Given the description of an element on the screen output the (x, y) to click on. 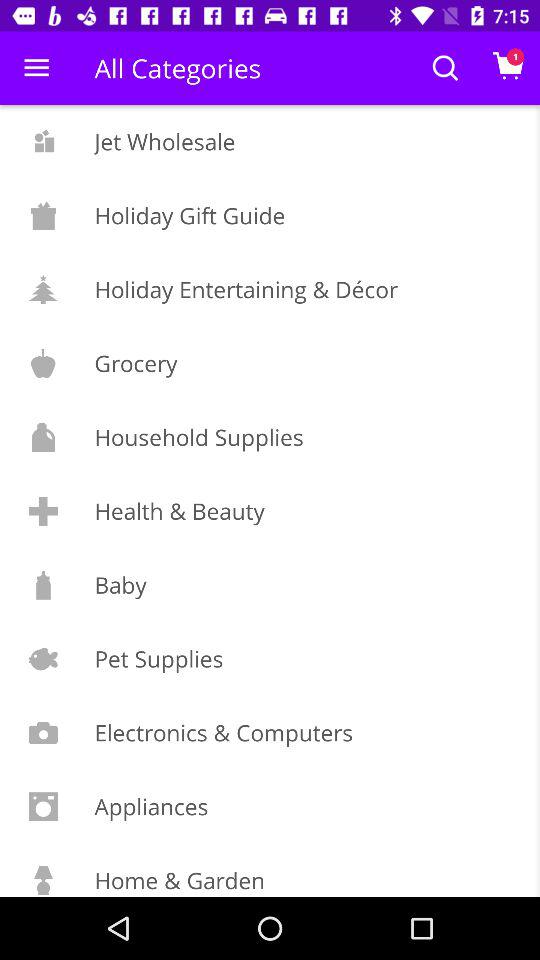
open the icon to the left of the all categories icon (36, 68)
